Given the description of an element on the screen output the (x, y) to click on. 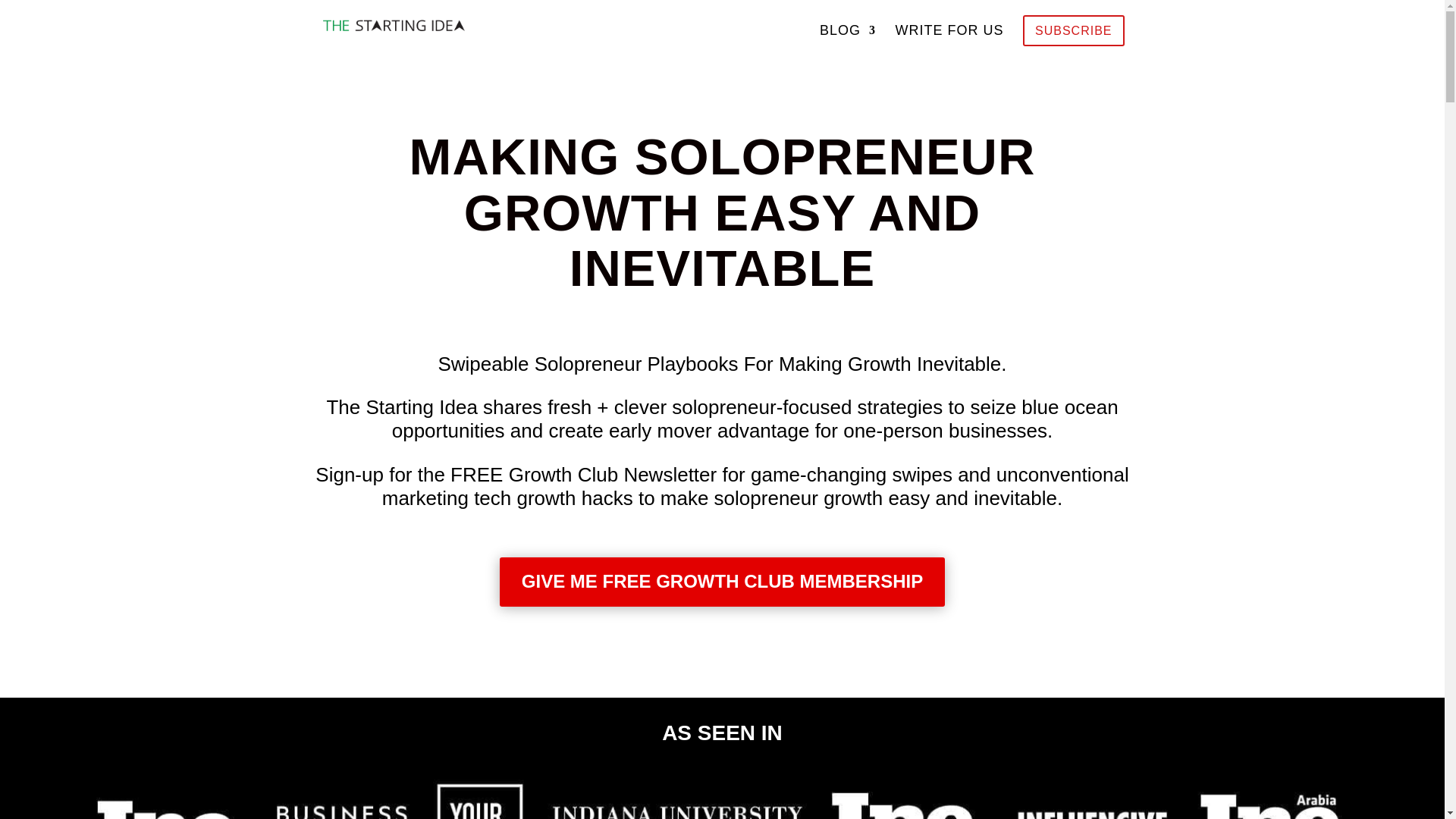
BLOG (847, 37)
SUBSCRIBE (1073, 30)
WRITE FOR US (949, 37)
GIVE ME FREE GROWTH CLUB MEMBERSHIP (721, 581)
